Given the description of an element on the screen output the (x, y) to click on. 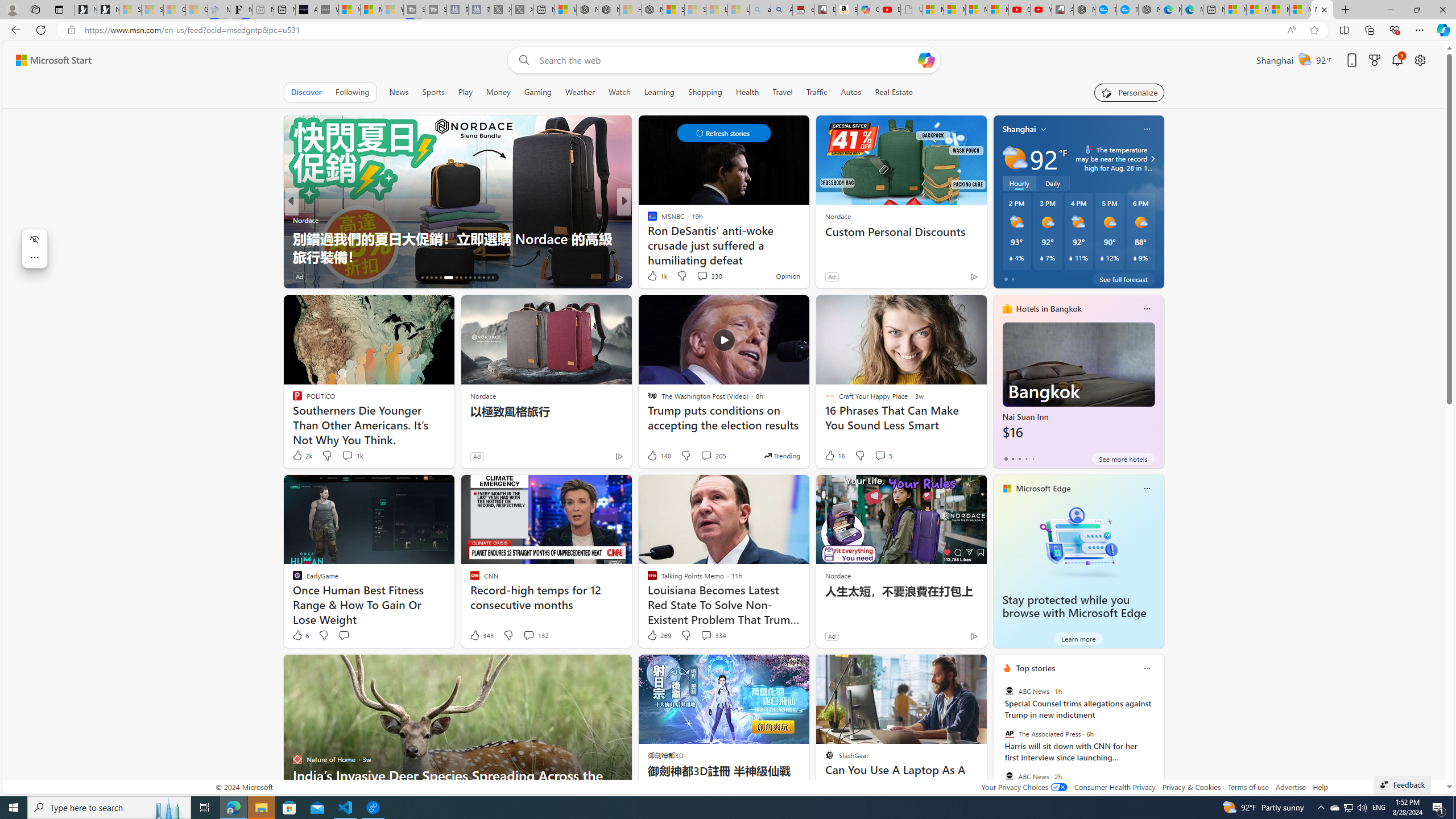
More actions (33, 257)
View comments 5 Comment (882, 455)
Daily (1052, 183)
Nai Suan Inn (1077, 385)
44 Like (652, 276)
TAG24 NEWS (647, 219)
AutomationID: tab-30 (492, 277)
tab-4 (1032, 458)
